Given the description of an element on the screen output the (x, y) to click on. 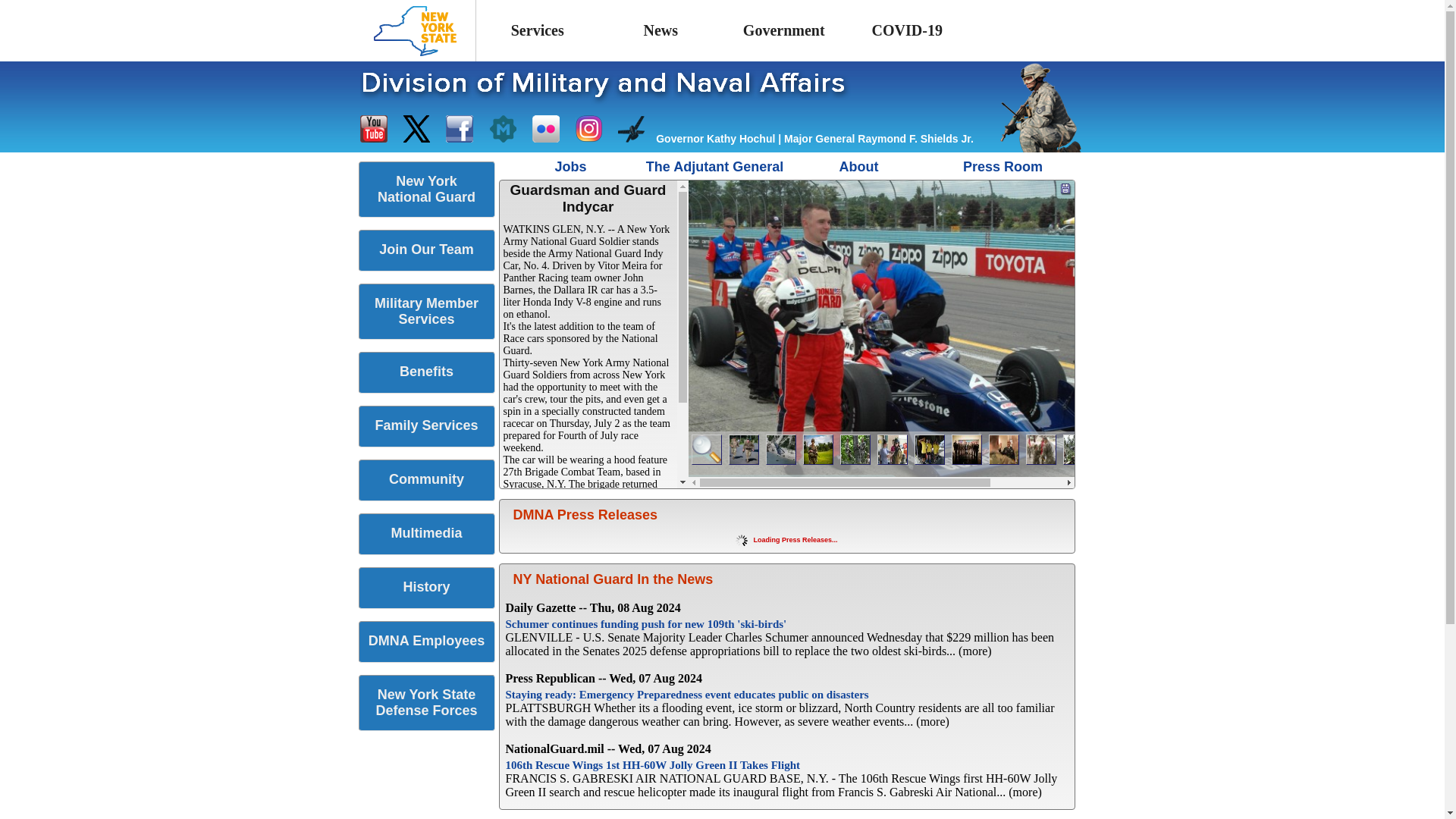
NYNG (427, 195)
Search our DVIDS Content (631, 128)
Join Our Team (426, 250)
Visit us on Facebook (459, 128)
New York State Home (414, 30)
Follow us on X (416, 128)
COVID-19 (907, 30)
New York National Guard (426, 189)
NYS DMNA Press Releases on Readmedia (502, 128)
View our photos on Instagram (588, 128)
